Given the description of an element on the screen output the (x, y) to click on. 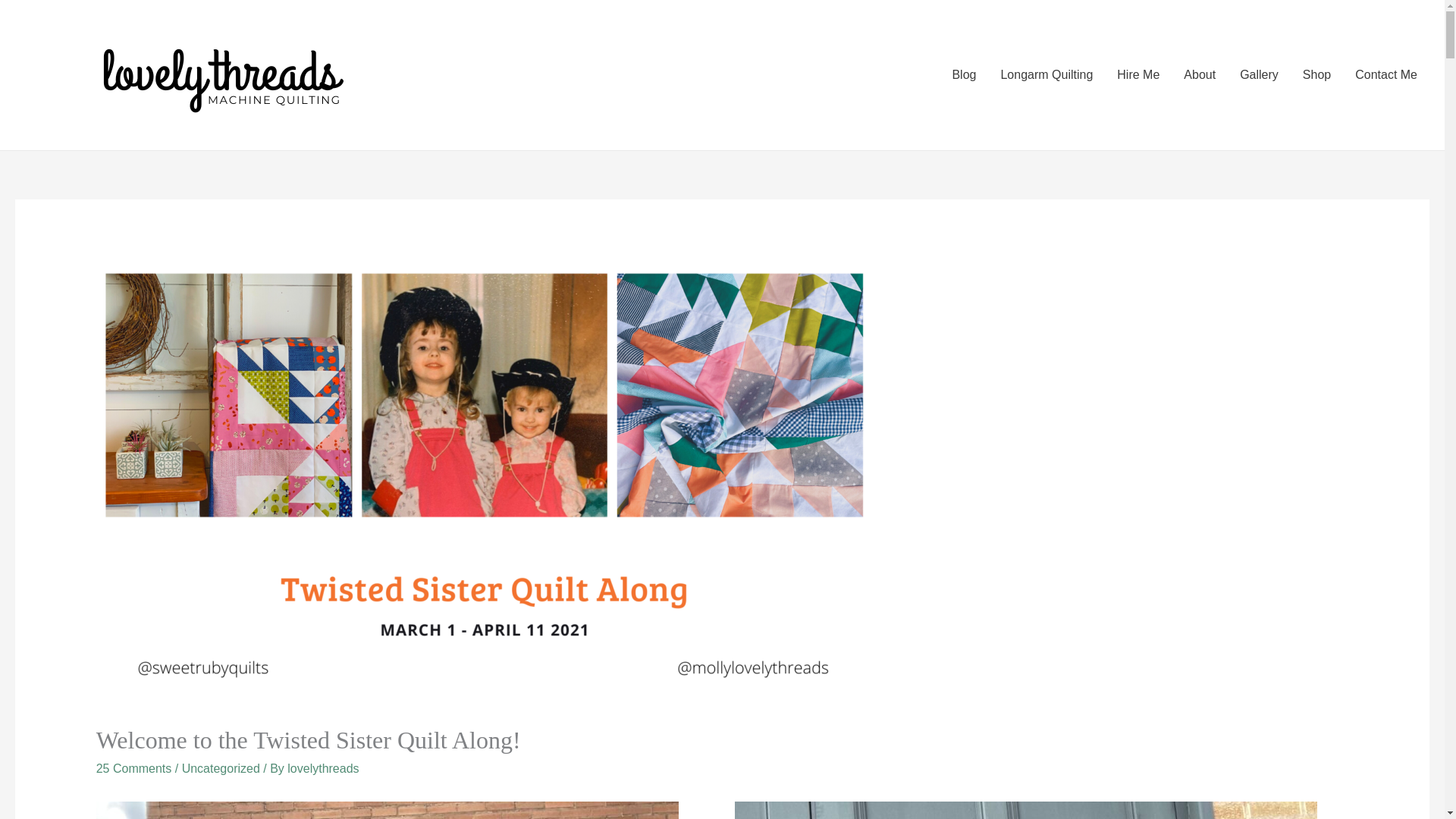
Shop (1316, 74)
Longarm Quilting (1046, 74)
Gallery (1258, 74)
About (1199, 74)
Hire Me (1138, 74)
Uncategorized (221, 768)
lovelythreads (322, 768)
Blog (963, 74)
View all posts by lovelythreads (322, 768)
25 Comments (133, 768)
Contact Me (1385, 74)
